Given the description of an element on the screen output the (x, y) to click on. 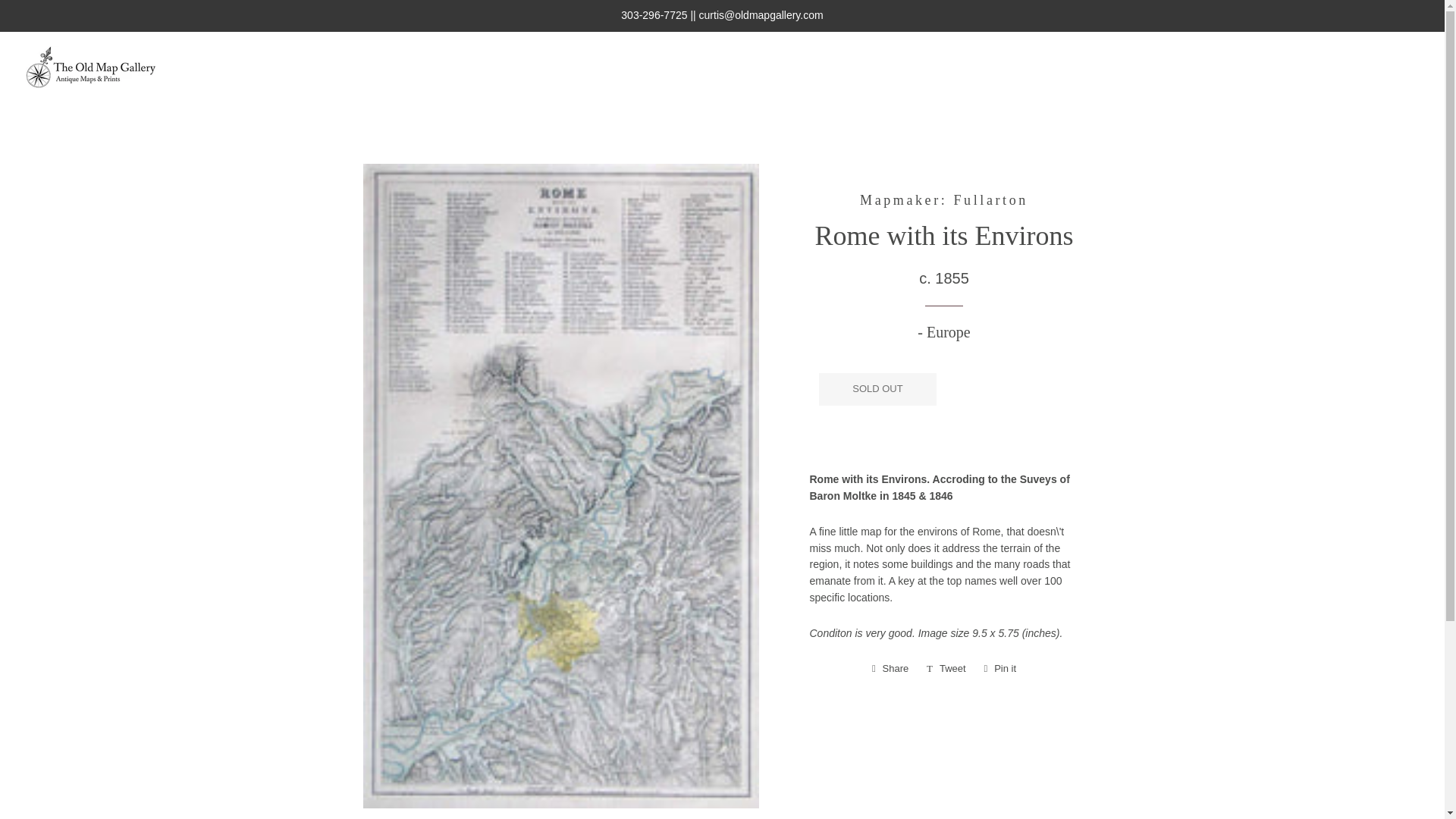
Pin on Pinterest (1000, 668)
Tweet on Twitter (946, 668)
Share on Facebook (889, 668)
